Given the description of an element on the screen output the (x, y) to click on. 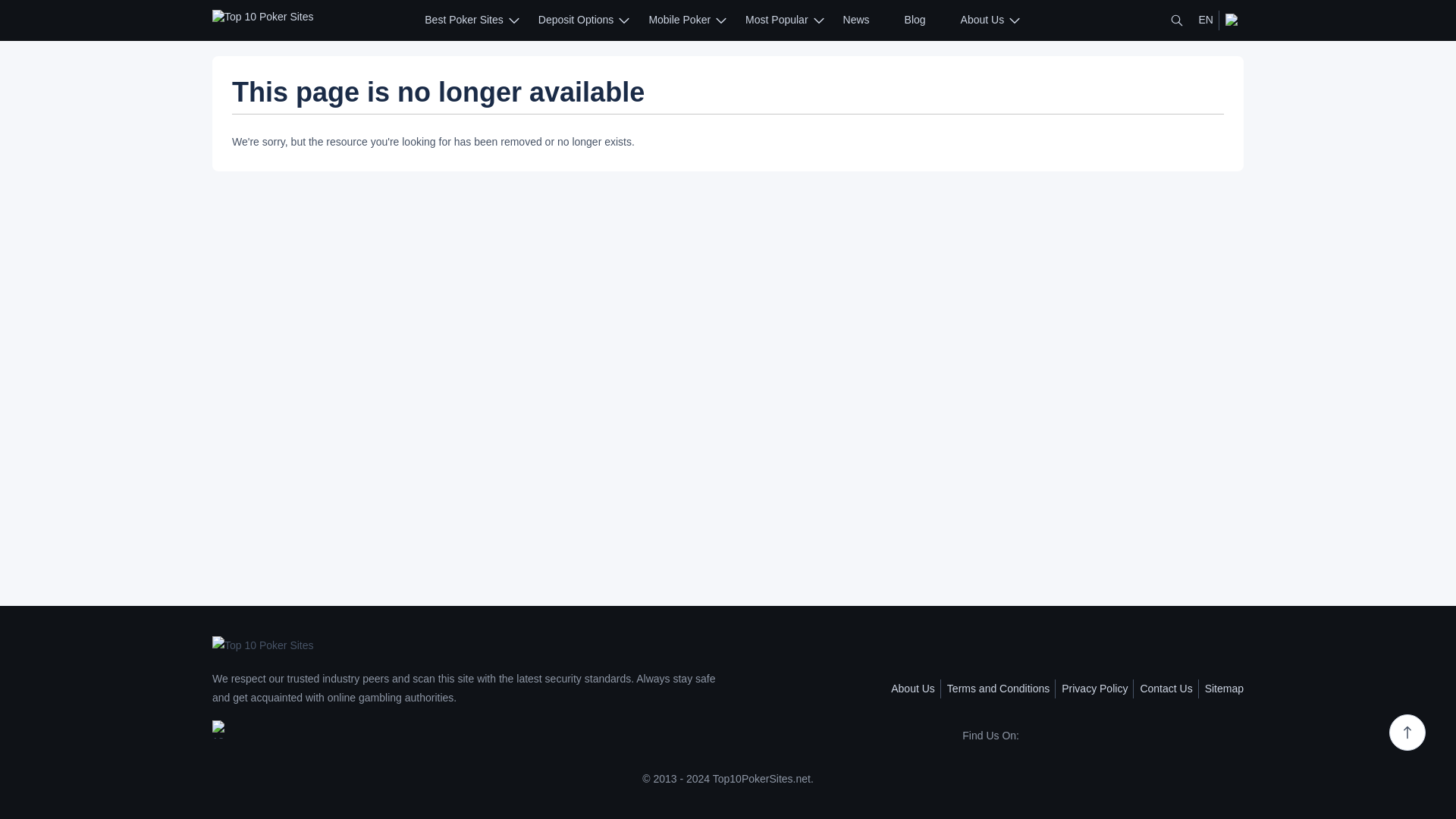
Best Poker Sites (464, 19)
Most Popular (776, 19)
Deposit Options (576, 19)
Mobile Poker (678, 19)
